Given the description of an element on the screen output the (x, y) to click on. 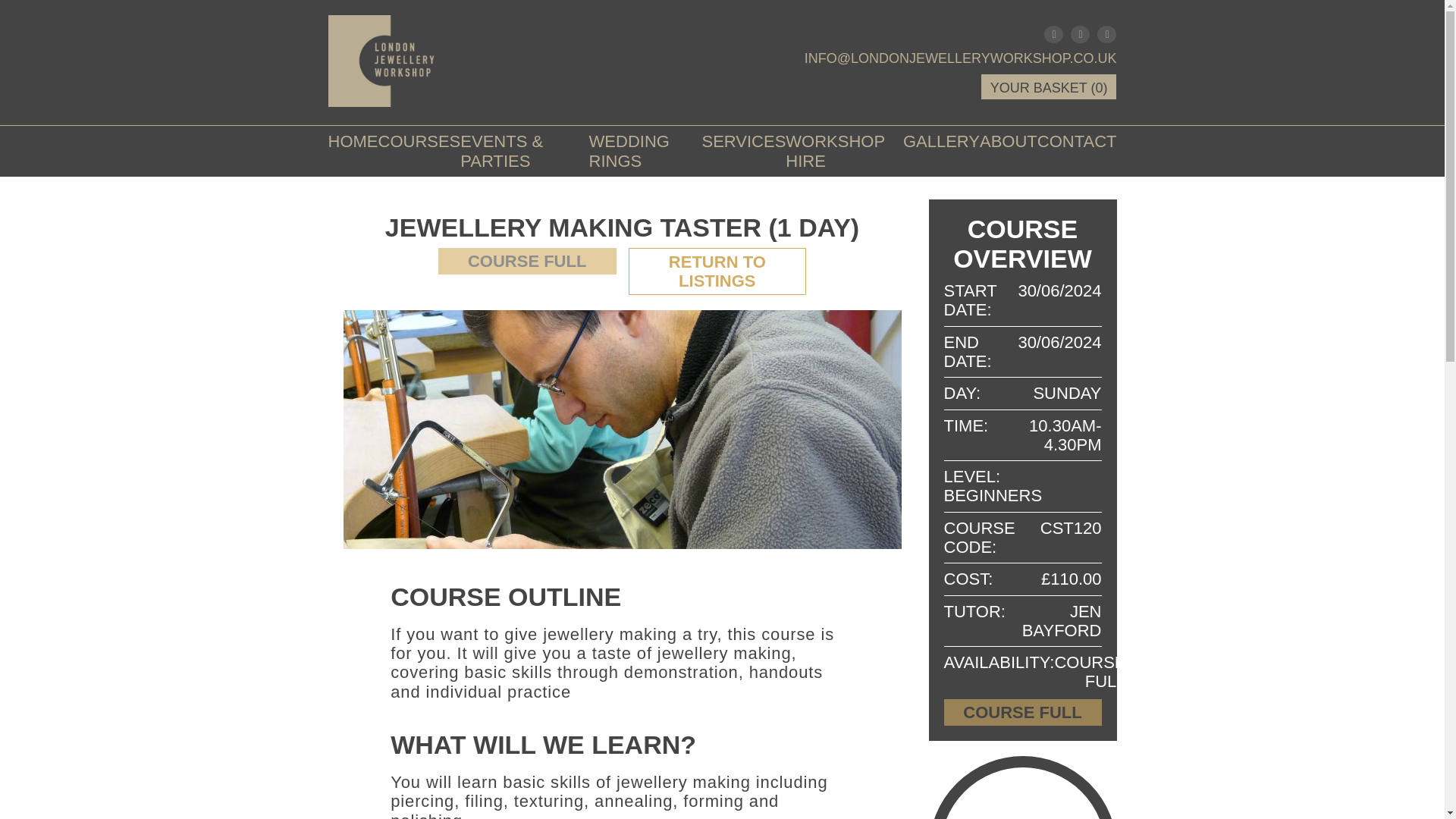
HOME (352, 141)
COURSES (418, 141)
GALLERY (940, 141)
WEDDING RINGS (645, 151)
SERVICES (743, 141)
CONTACT (1076, 141)
WORKSHOP HIRE (844, 151)
ABOUT (1007, 141)
